Given the description of an element on the screen output the (x, y) to click on. 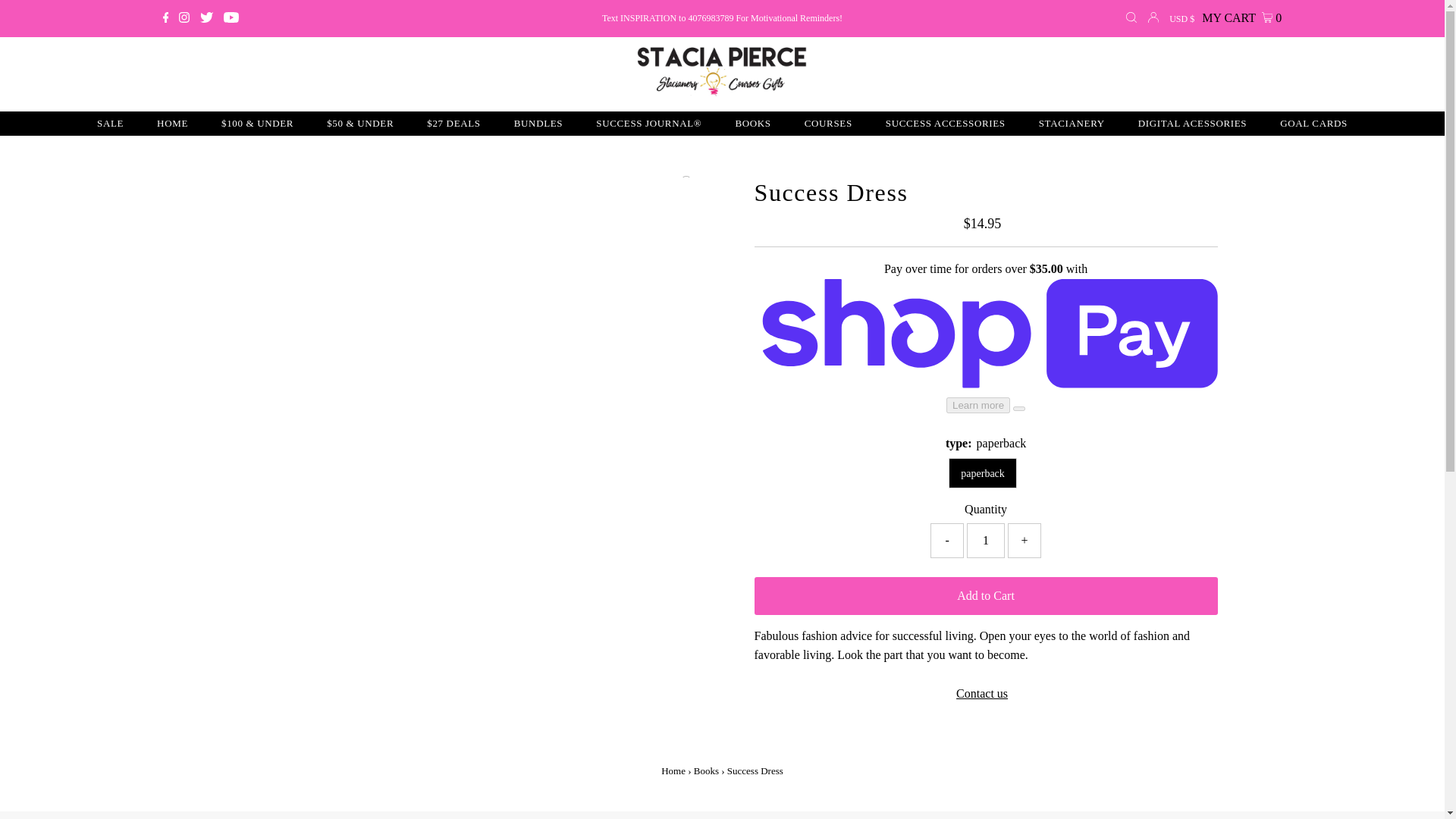
1 (985, 540)
SALE (109, 123)
Home (673, 770)
HOME (172, 123)
Add to Cart (985, 595)
BUNDLES (538, 123)
BOOKS (752, 123)
